Given the description of an element on the screen output the (x, y) to click on. 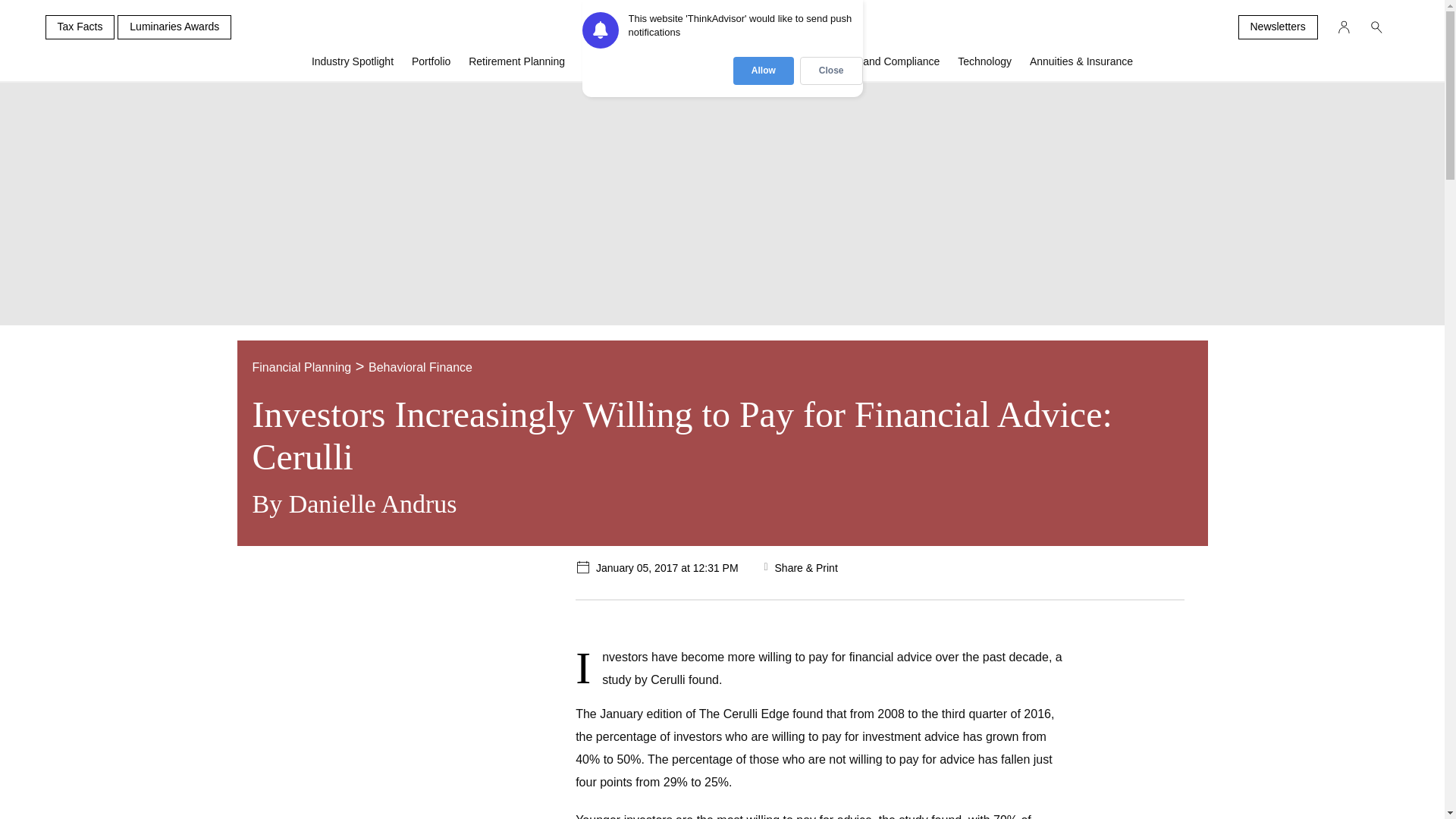
Newsletters (1277, 27)
Luminaries Awards (174, 27)
Industry Spotlight (352, 67)
Tax Facts (80, 27)
